Given the description of an element on the screen output the (x, y) to click on. 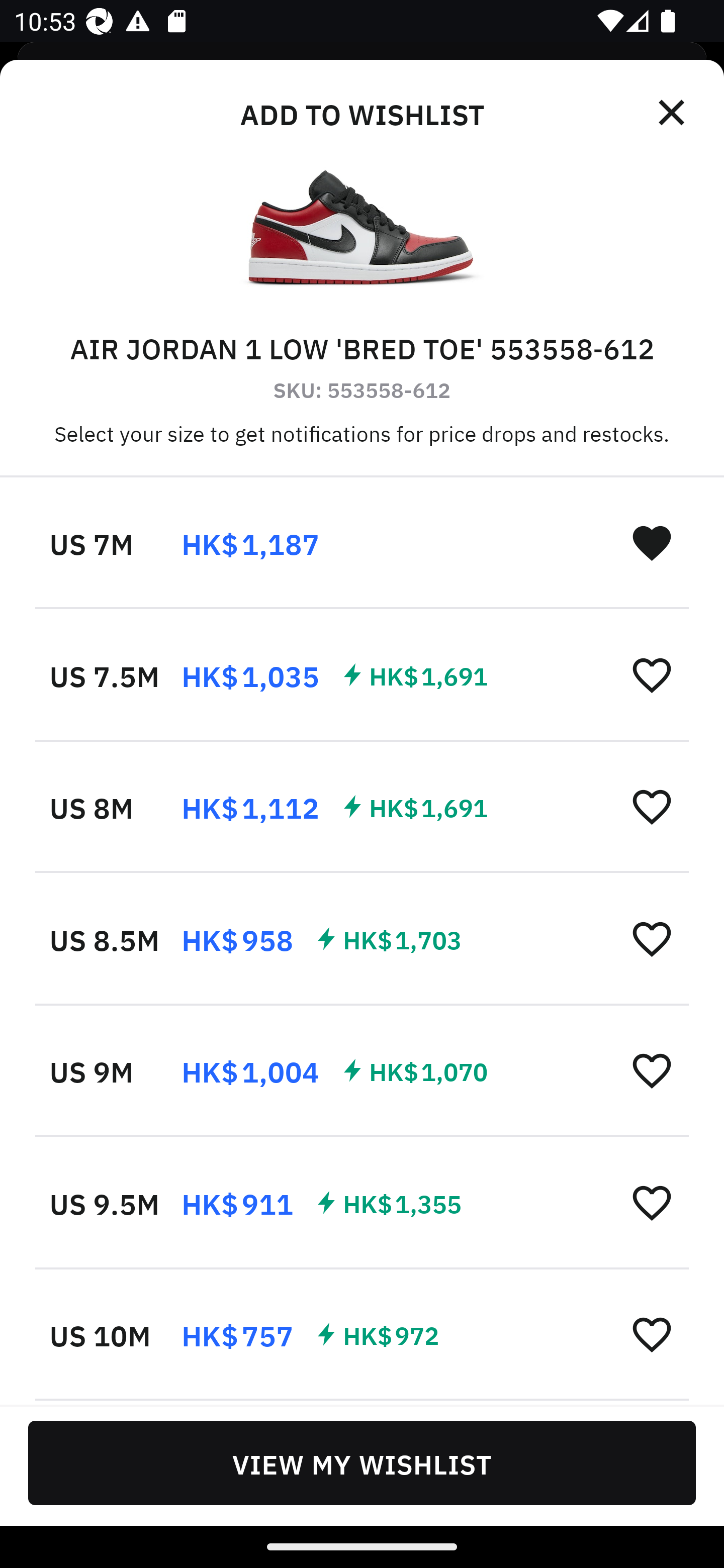
 (672, 112)
󰋑 (651, 542)
󰋕 (651, 674)
󰋕 (651, 806)
󰋕 (651, 938)
󰋕 (651, 1069)
󰋕 (651, 1201)
󰋕 (651, 1333)
VIEW MY WISHLIST (361, 1462)
